Given the description of an element on the screen output the (x, y) to click on. 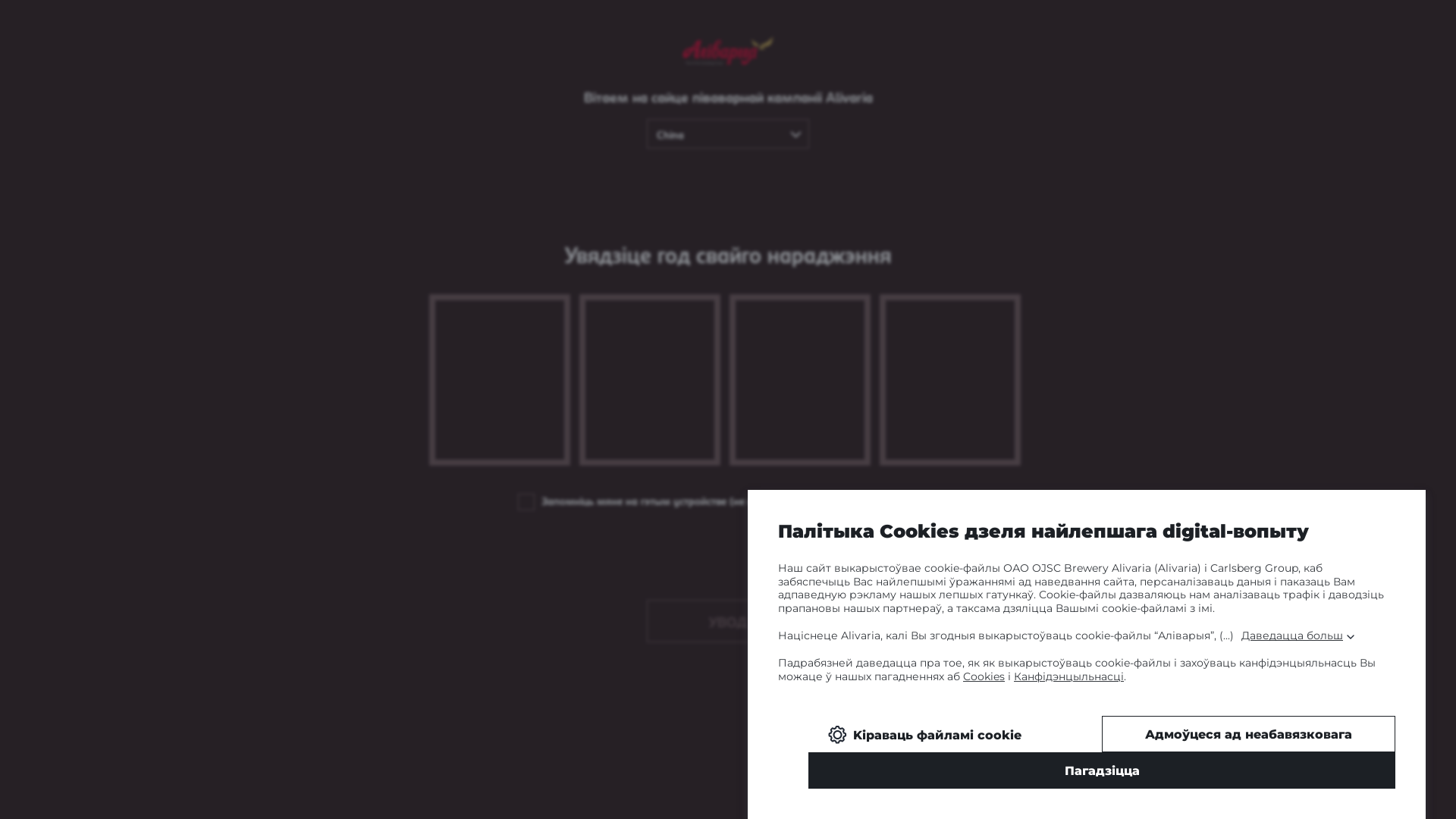
info@alivaria.by Element type: text (727, 609)
China Element type: text (727, 133)
Cookies Element type: text (983, 676)
